Given the description of an element on the screen output the (x, y) to click on. 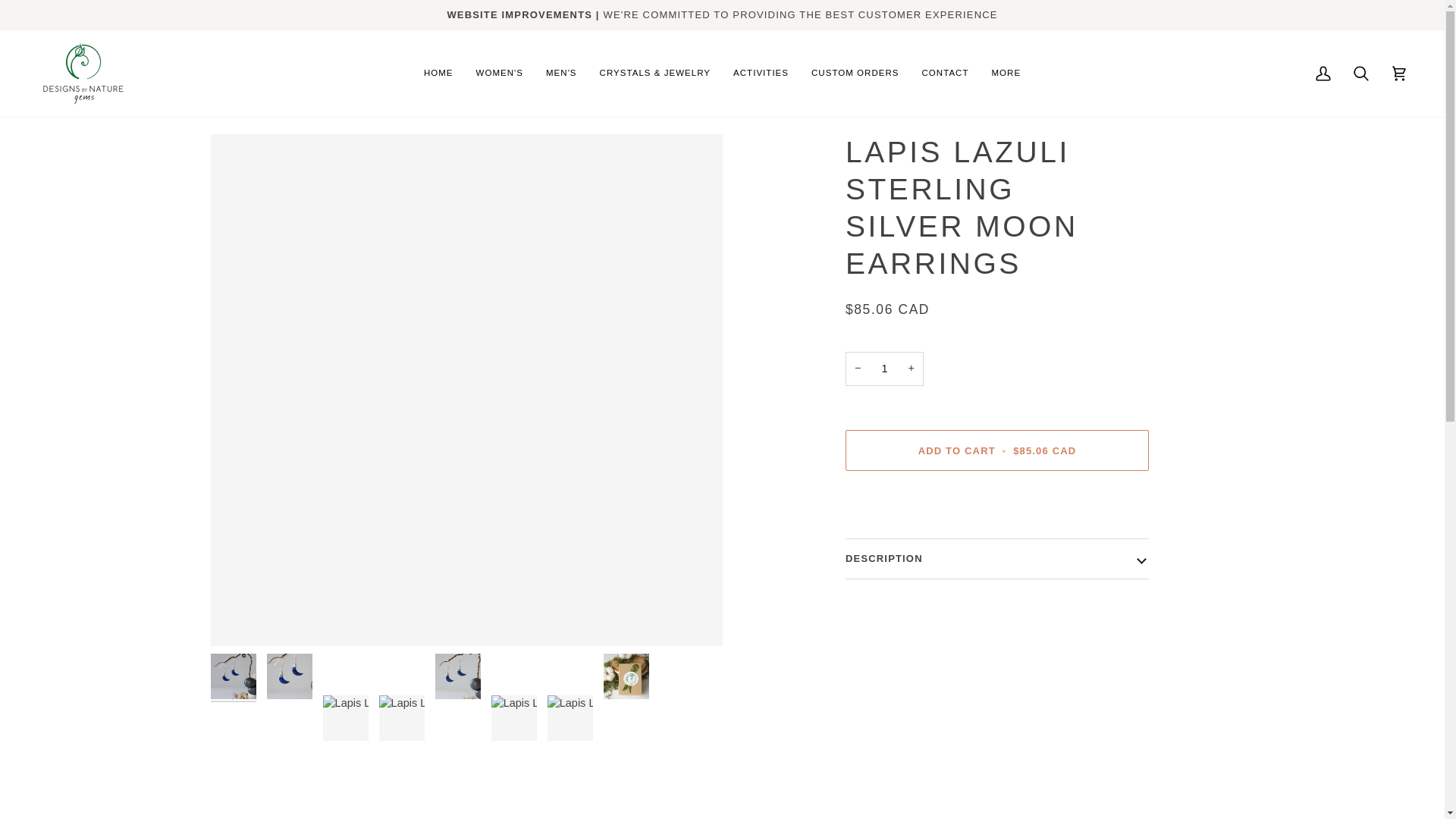
HOME (438, 73)
1 (884, 368)
WOMEN'S (499, 73)
MEN'S (561, 73)
